Given the description of an element on the screen output the (x, y) to click on. 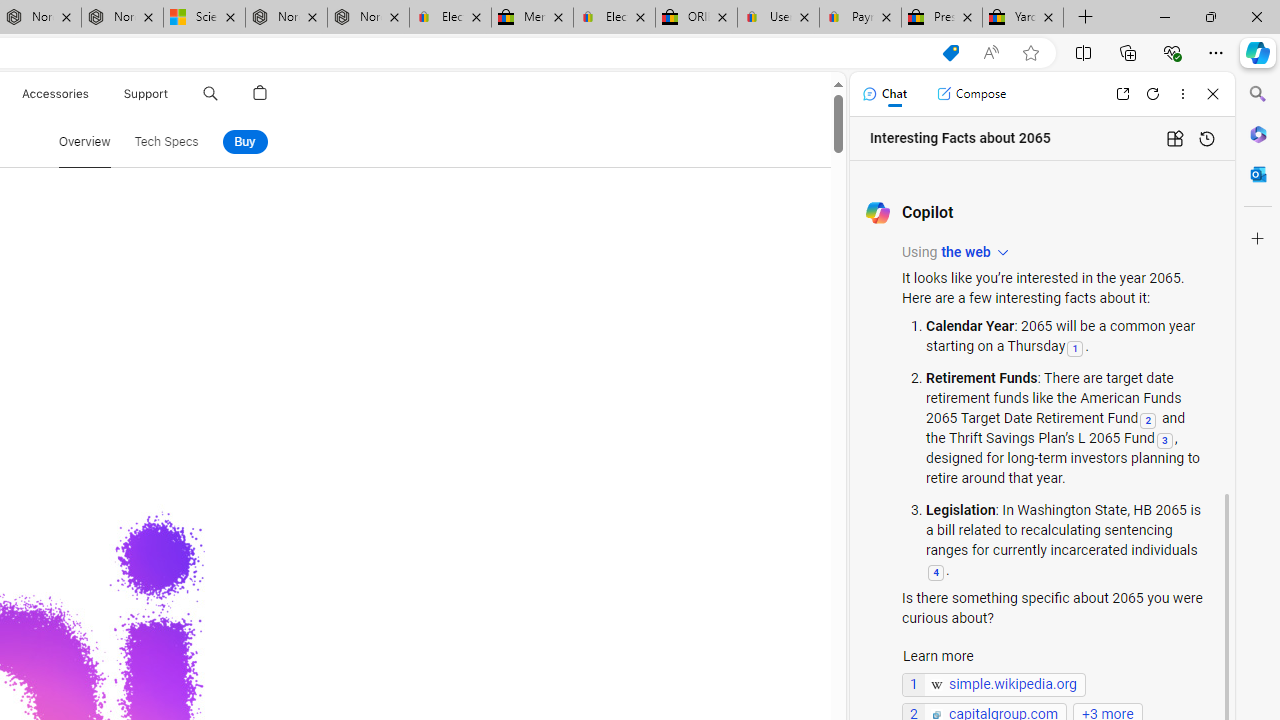
Search apple.com (210, 93)
Class: globalnav-submenu-trigger-item (172, 93)
